Given the description of an element on the screen output the (x, y) to click on. 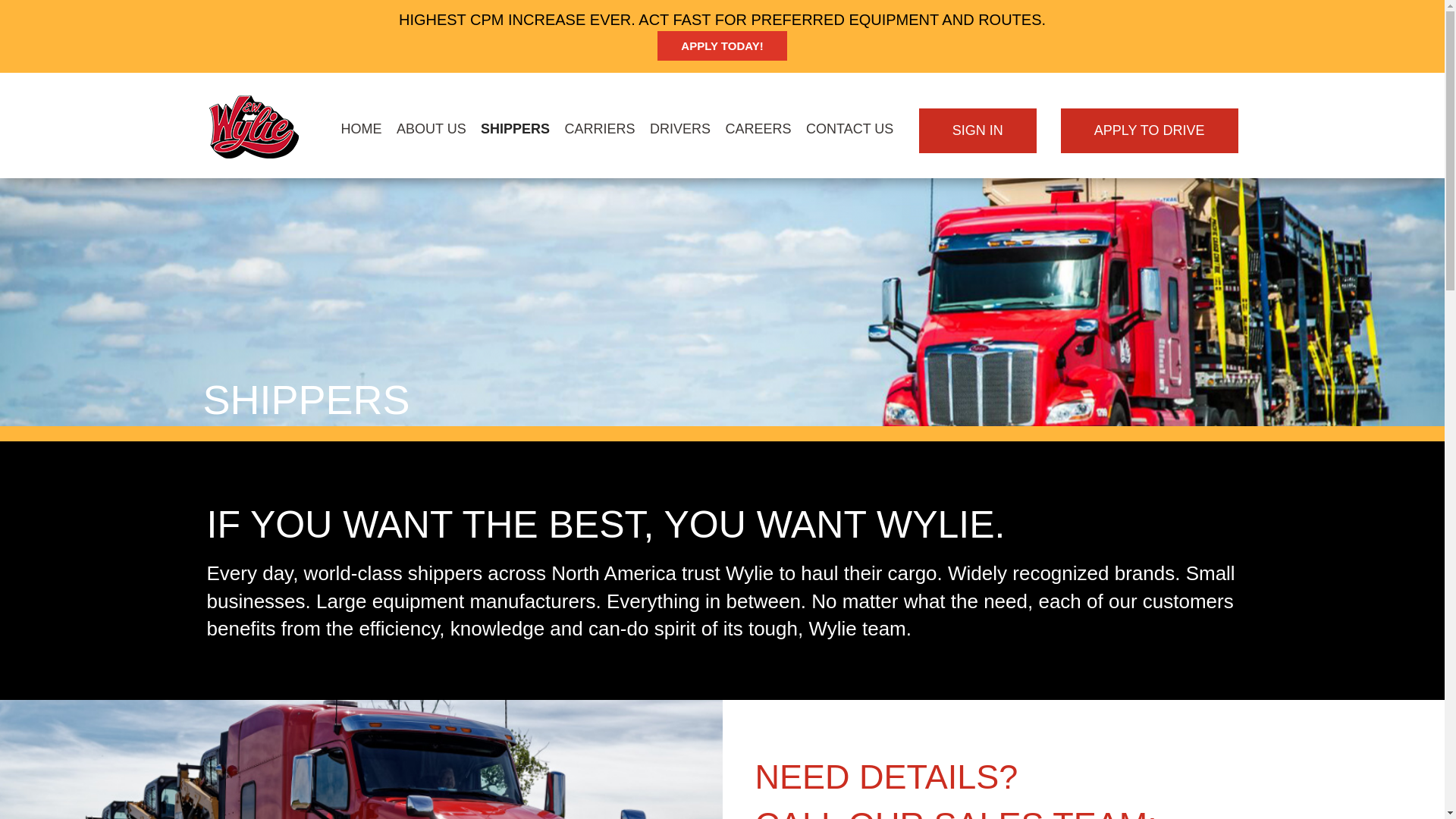
APPLY TO DRIVE (1150, 130)
DRIVERS (679, 128)
HOME (360, 128)
SIGN IN (977, 130)
SHIPPERS (515, 128)
CARRIERS (599, 128)
CONTACT US (849, 128)
CAREERS (758, 128)
ABOUT US (430, 128)
APPLY TODAY! (722, 45)
